Given the description of an element on the screen output the (x, y) to click on. 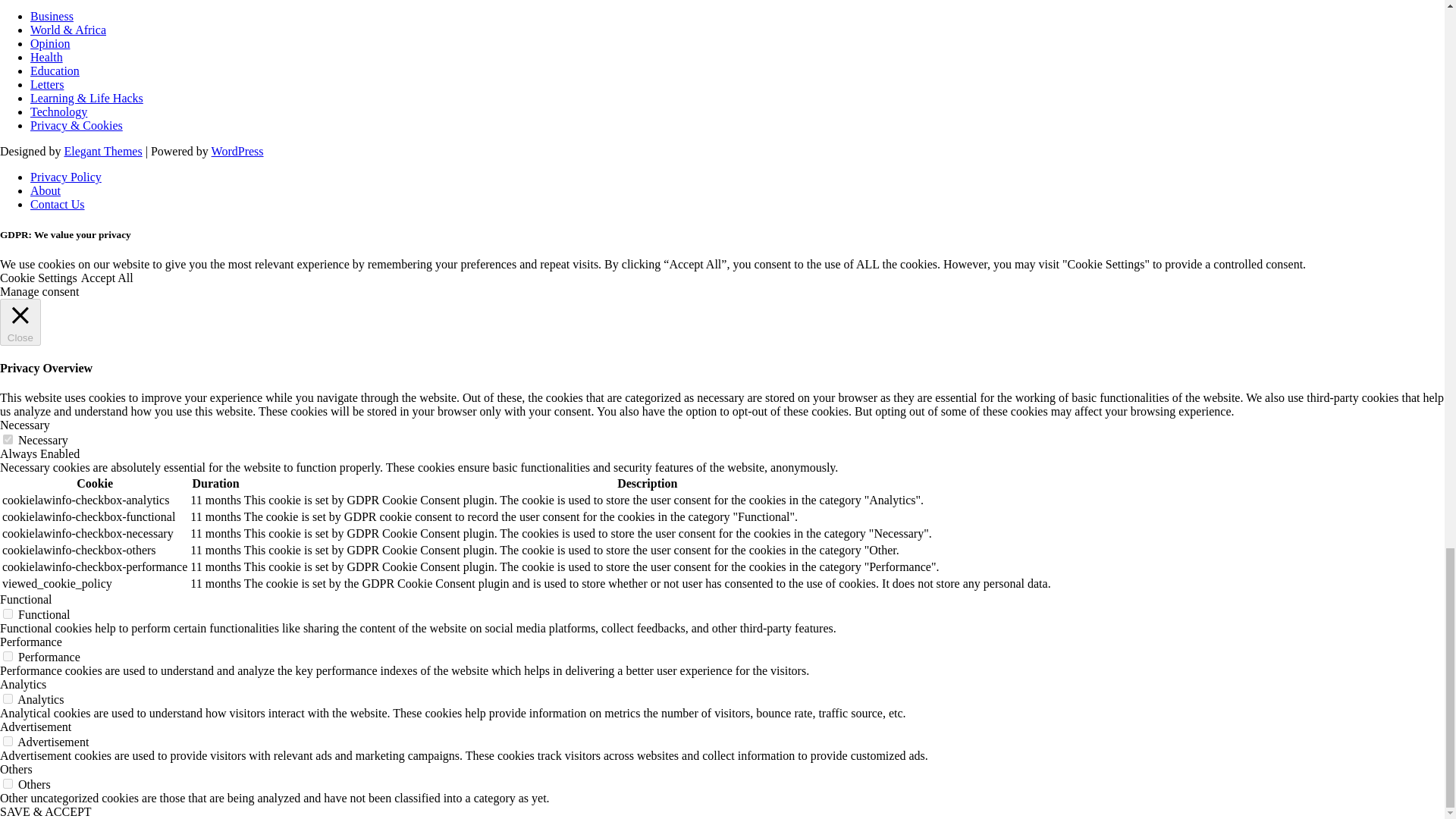
on (7, 783)
on (7, 614)
on (7, 698)
on (7, 741)
on (7, 439)
on (7, 655)
